Given the description of an element on the screen output the (x, y) to click on. 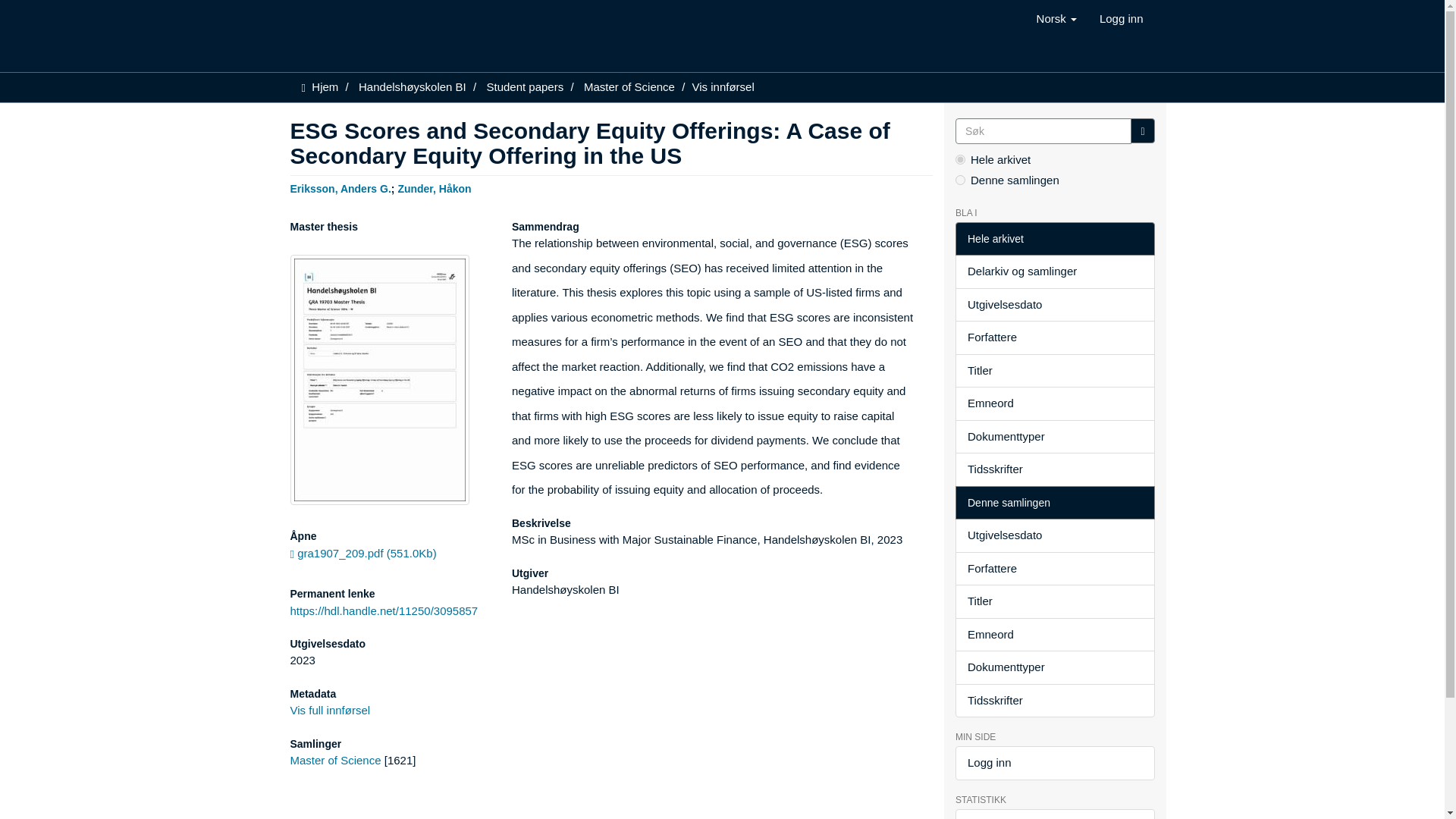
Student papers (524, 86)
Norsk  (1056, 18)
Delarkiv og samlinger (1054, 271)
Utgivelsesdato (1054, 305)
Master of Science (334, 759)
Eriksson, Anders G. (339, 187)
Master of Science (629, 86)
Hele arkivet (1054, 238)
Forfattere (1054, 337)
Titler (1054, 370)
Hjem (324, 86)
Logg inn (1120, 18)
